Given the description of an element on the screen output the (x, y) to click on. 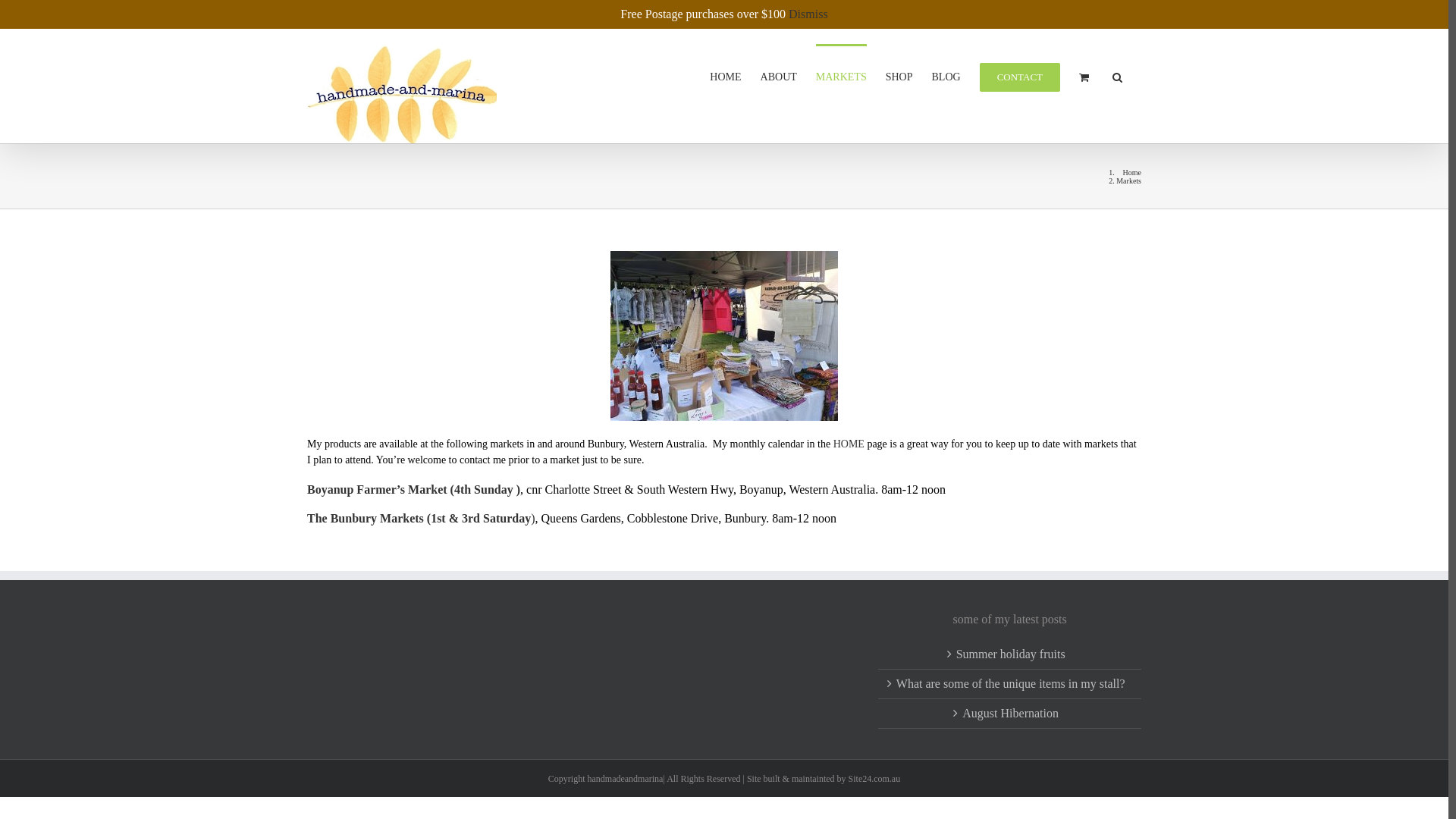
HOME Element type: text (724, 75)
The Bunbury Markets (1st & 3rd Saturday) Element type: text (420, 517)
What are some of the unique items in my stall? Element type: text (1010, 683)
CONTACT Element type: text (1019, 75)
Dismiss Element type: text (808, 13)
SHOP Element type: text (899, 75)
August Hibernation Element type: text (1010, 713)
ABOUT Element type: text (778, 75)
BLOG Element type: text (945, 75)
Summer holiday fruits Element type: text (1010, 654)
MARKETS Element type: text (840, 75)
HOME Element type: text (848, 443)
  Element type: text (946, 489)
Search Element type: hover (1117, 75)
Home Element type: text (1132, 172)
